Given the description of an element on the screen output the (x, y) to click on. 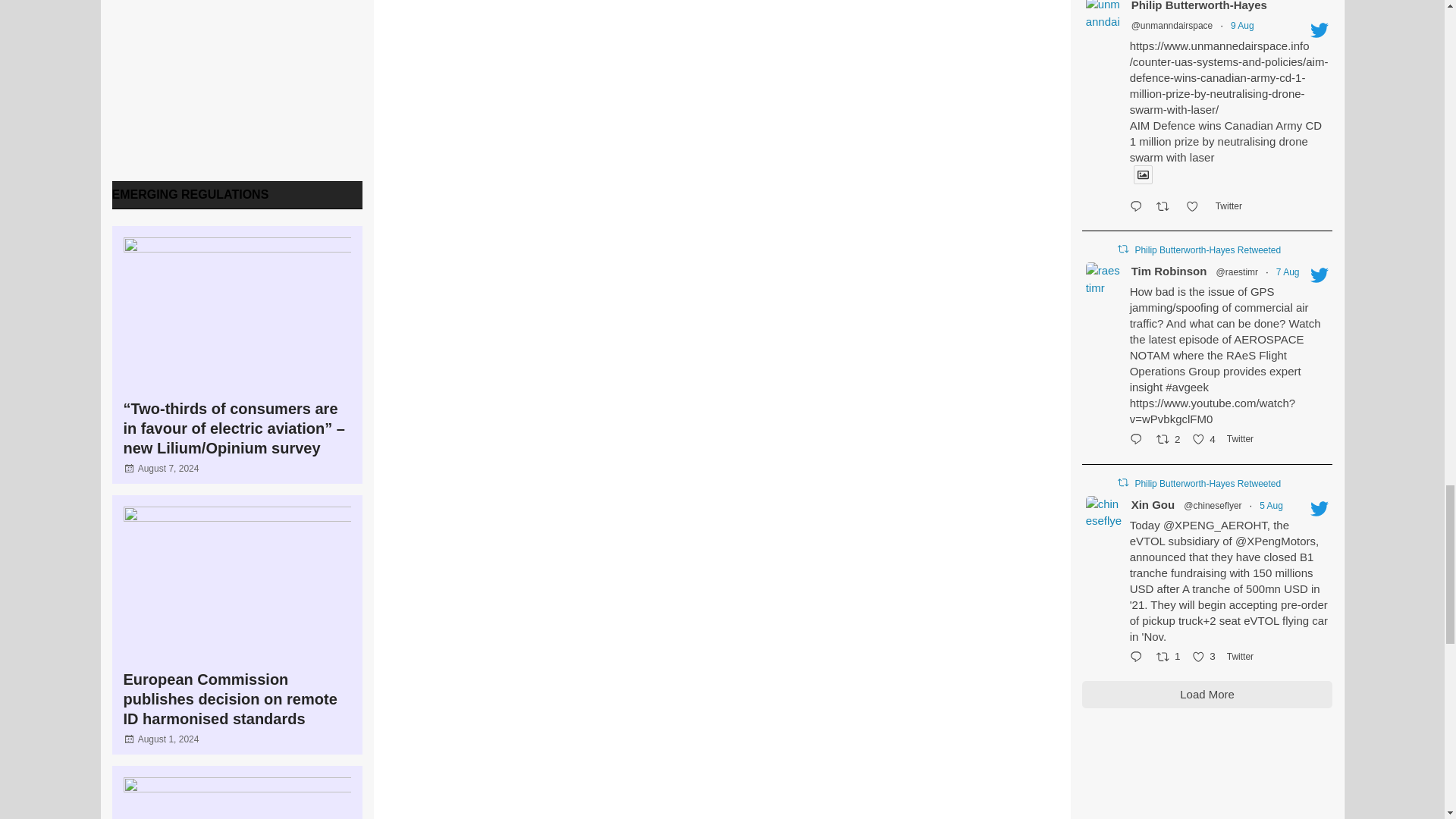
11:14 am (168, 468)
View all posts from category Emerging regulations (190, 194)
3:01 pm (168, 738)
